Given the description of an element on the screen output the (x, y) to click on. 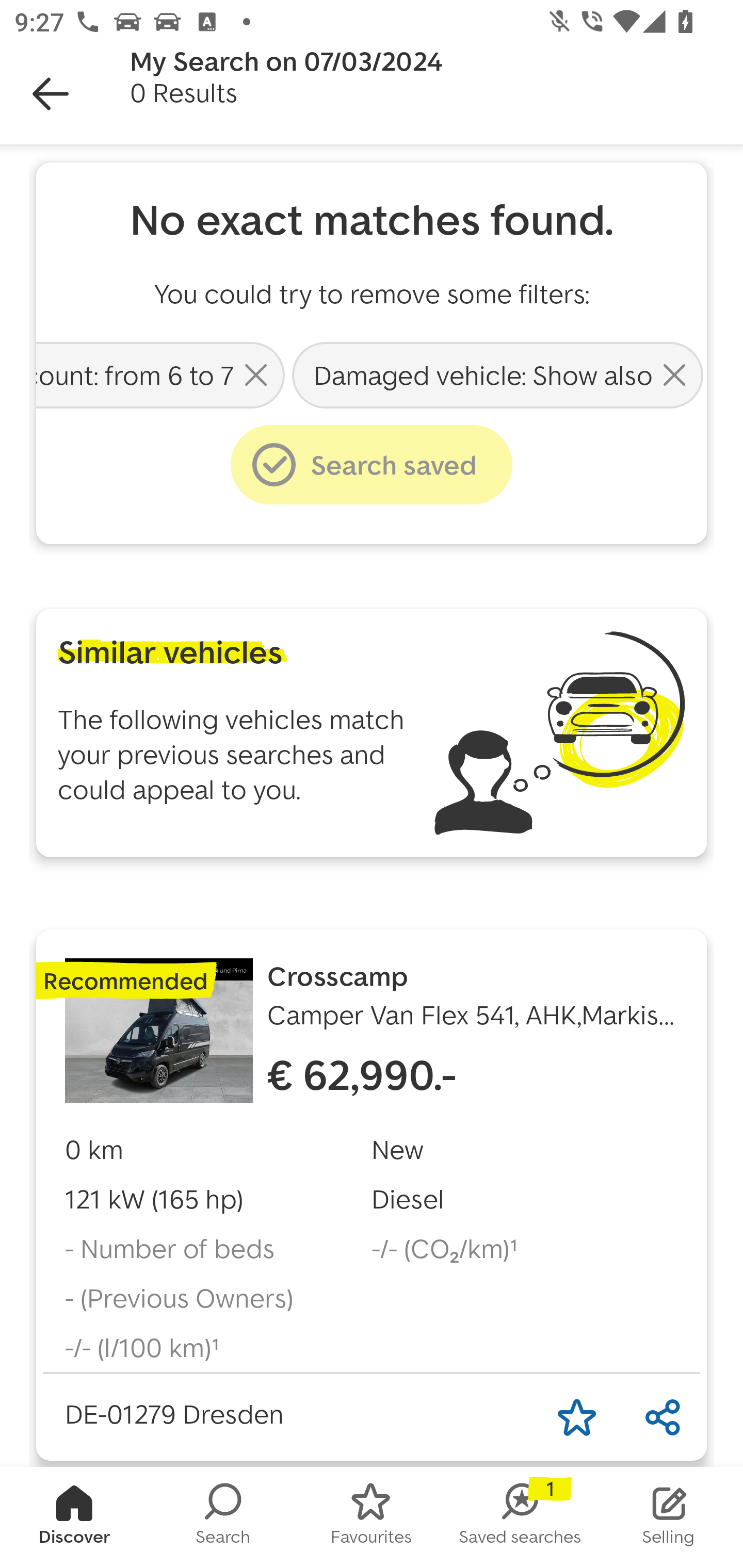
Navigate up (50, 93)
Door count: from 6 to 7 (162, 374)
Damaged vehicle: Show also (497, 374)
Search saved (371, 464)
HOMESCREEN Discover (74, 1517)
SEARCH Search (222, 1517)
FAVORITES Favourites (371, 1517)
SAVED_SEARCHES Saved searches 1 (519, 1517)
STOCK_LIST Selling (668, 1517)
